Given the description of an element on the screen output the (x, y) to click on. 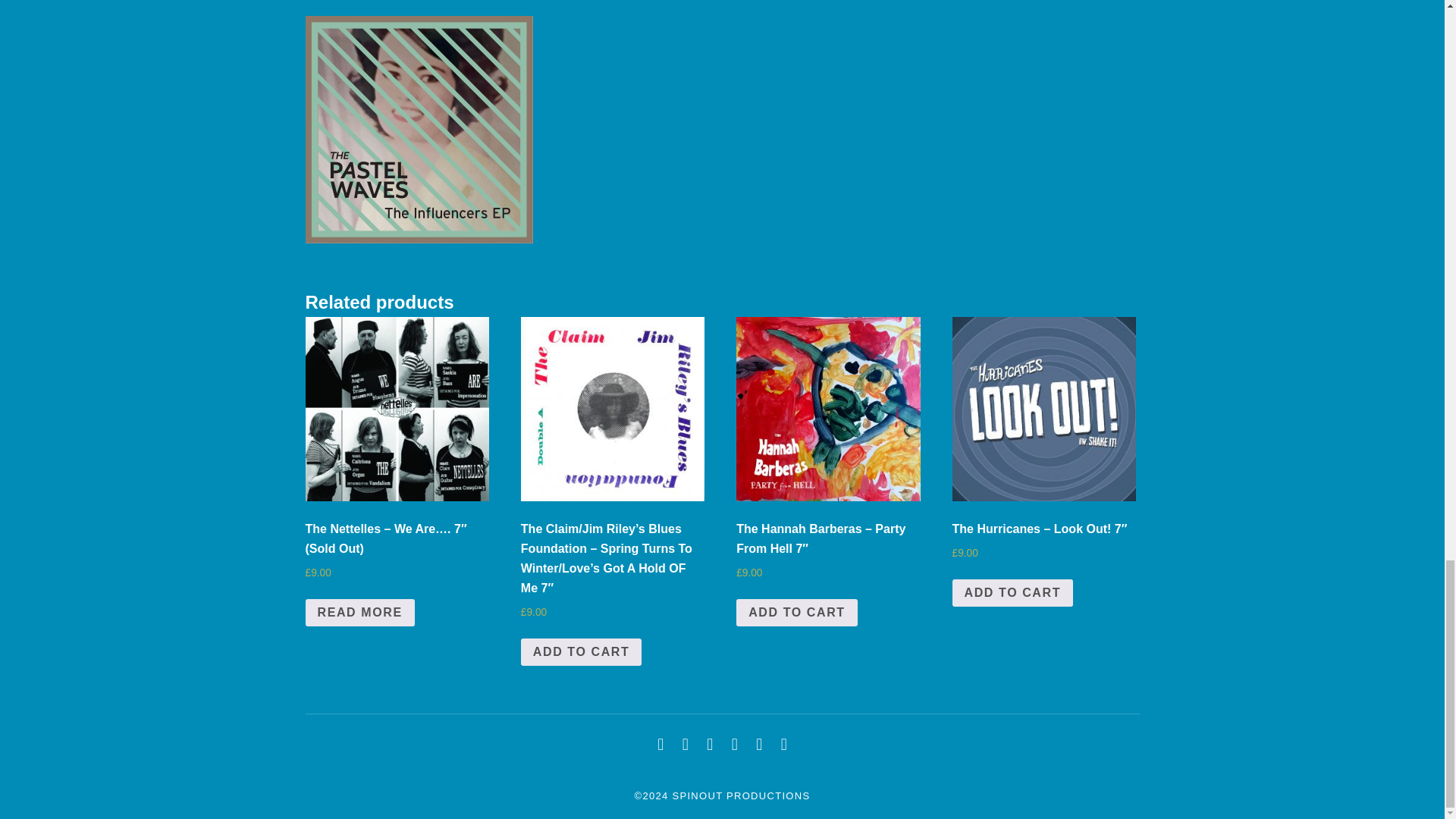
READ MORE (358, 612)
ADD TO CART (581, 651)
